Given the description of an element on the screen output the (x, y) to click on. 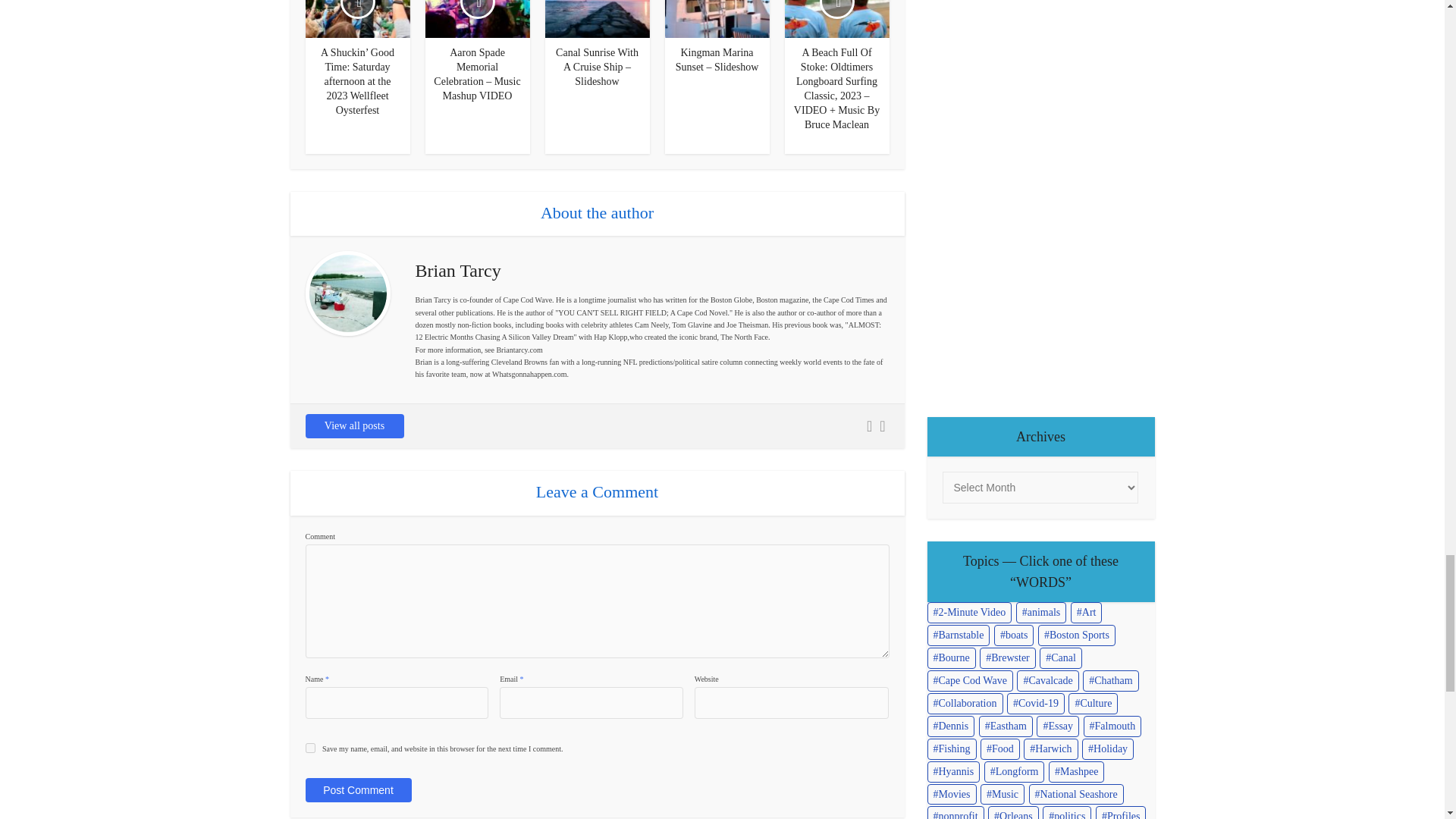
yes (309, 747)
Post Comment (357, 790)
